Given the description of an element on the screen output the (x, y) to click on. 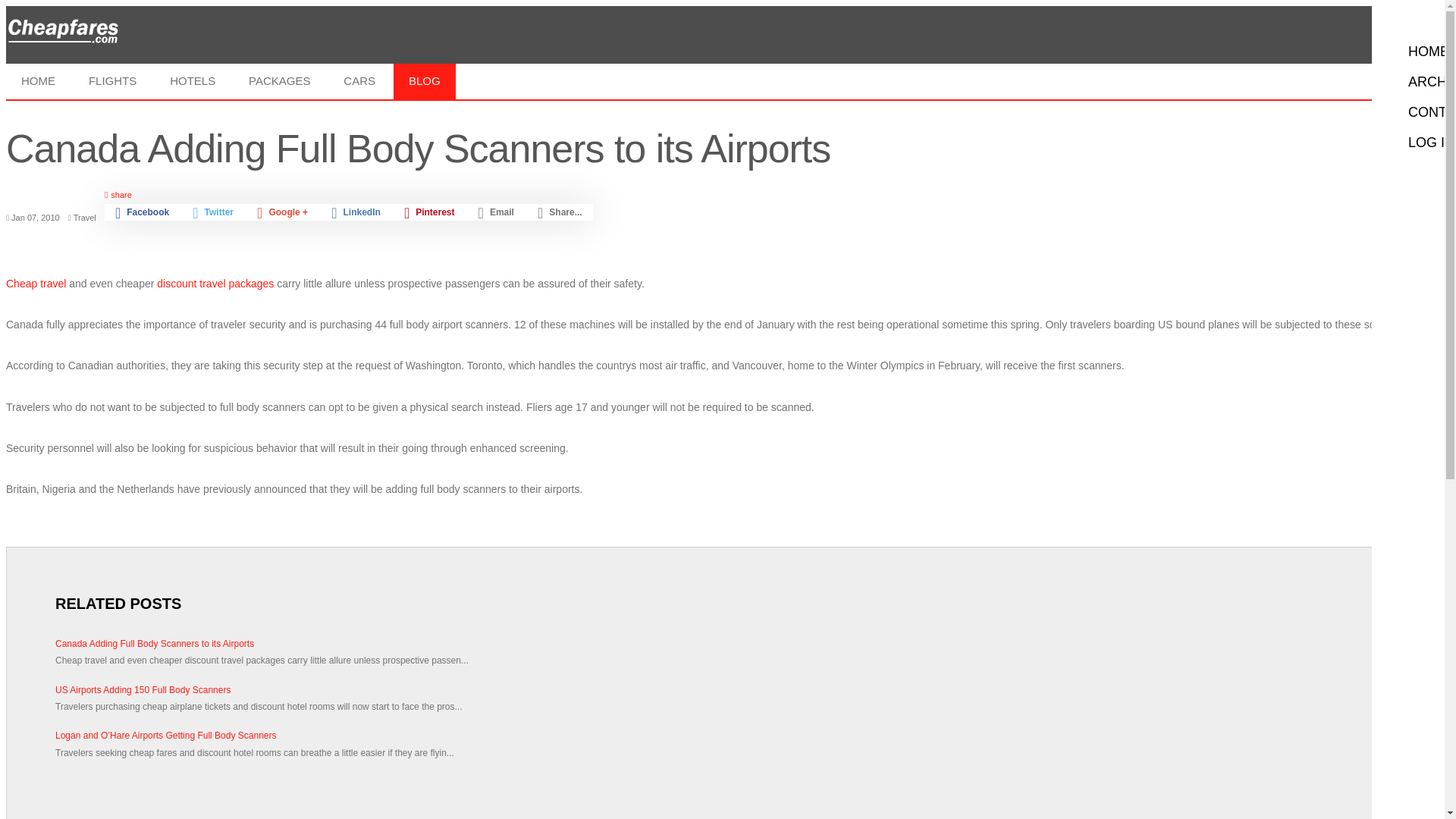
Facebook (141, 212)
Pinterest (429, 212)
Twitter (213, 212)
HOME (37, 80)
Cheapfares travel logo (62, 32)
BLOG (424, 80)
CARS (359, 80)
discount travel packages (215, 283)
share (348, 194)
PACKAGES (278, 80)
Cheap travel (35, 283)
HOTELS (192, 80)
Travel (85, 216)
Share... (559, 211)
Canada Adding Full Body Scanners to its Airports (722, 643)
